Given the description of an element on the screen output the (x, y) to click on. 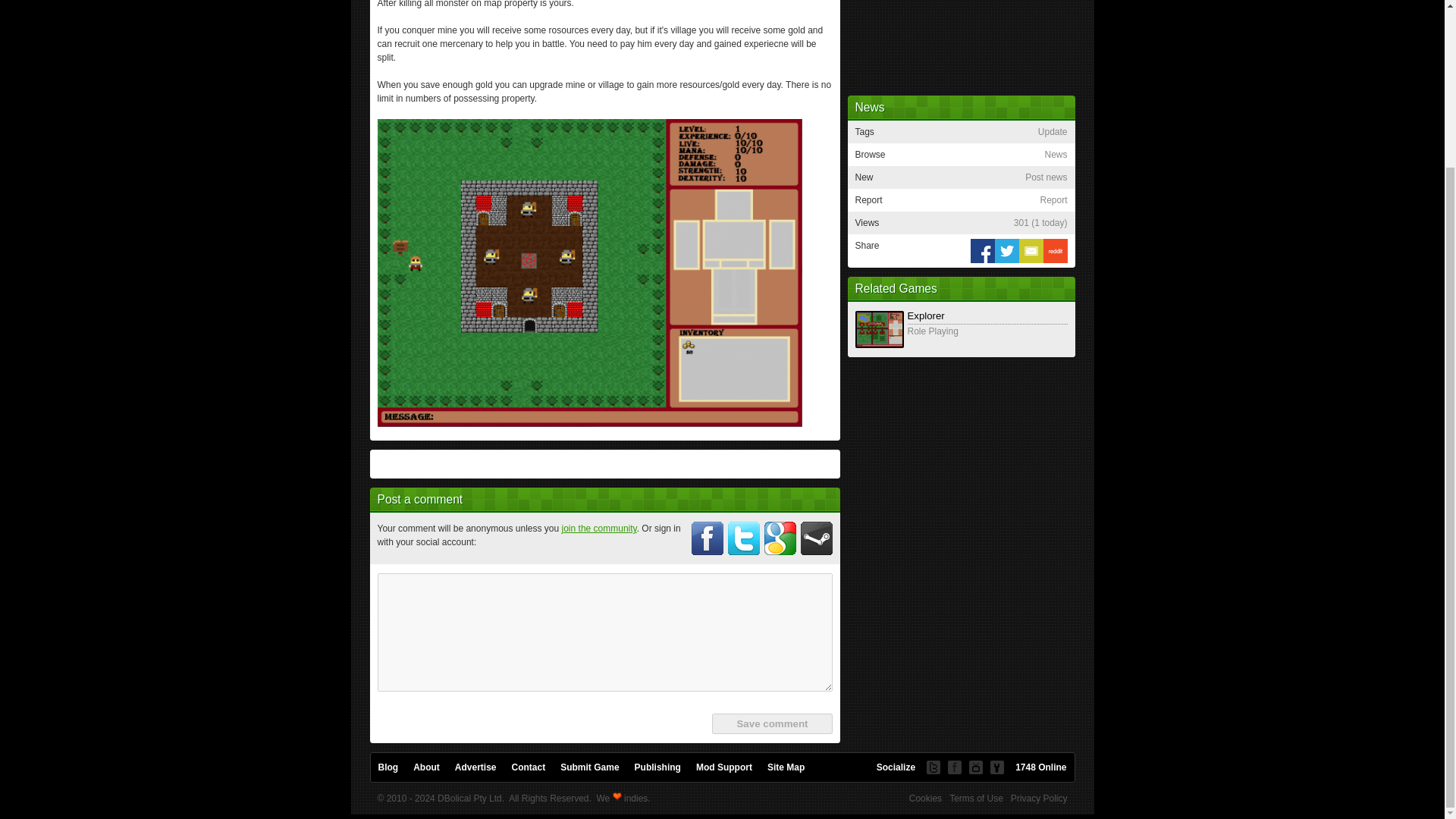
Click to connect via Twitter (744, 538)
Village - Indie DB (589, 271)
Save comment (771, 723)
Click to connect via Facebook (707, 538)
Click to connect via Steam (816, 538)
Click to connect via Google (780, 538)
